Given the description of an element on the screen output the (x, y) to click on. 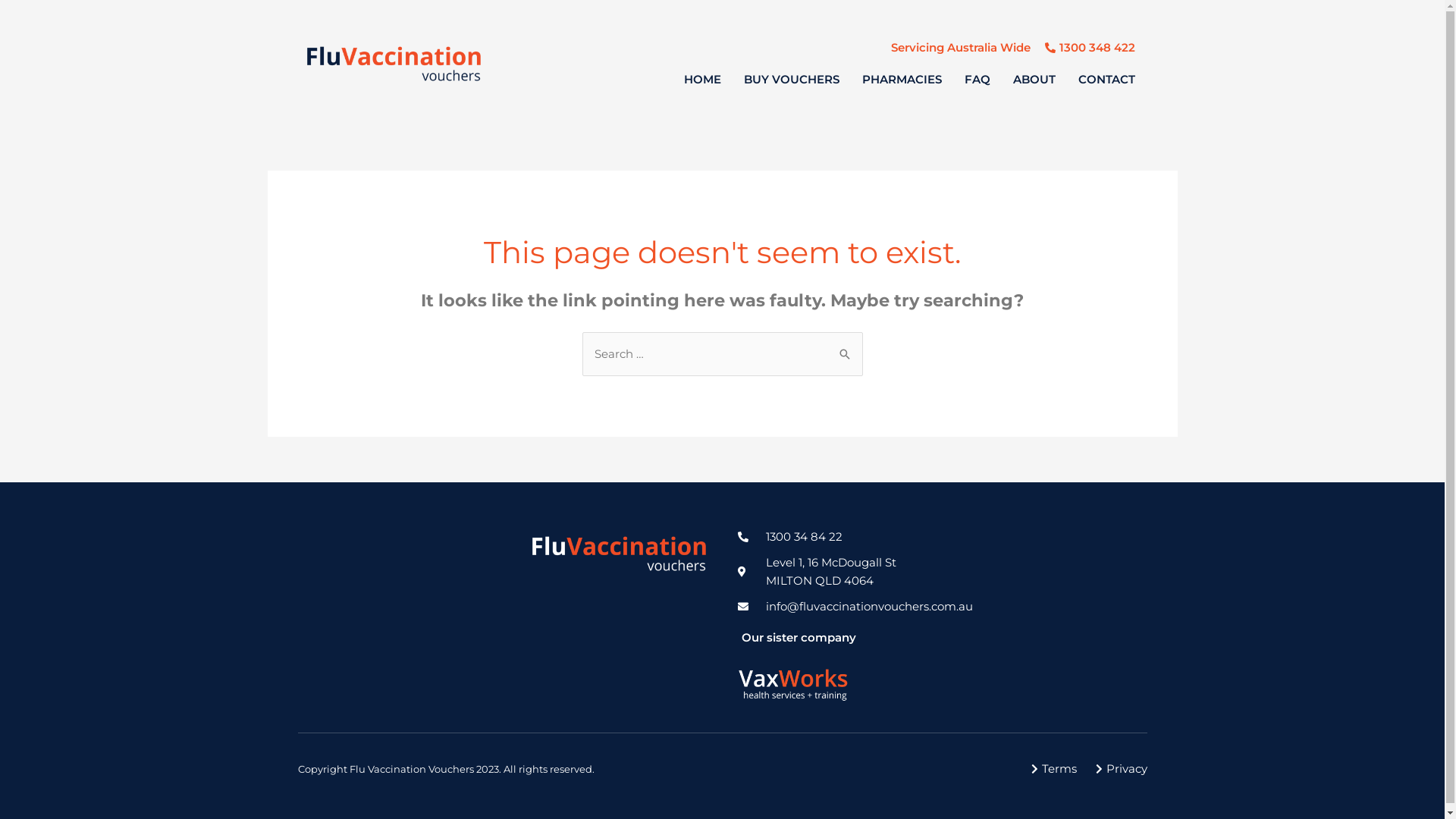
Terms Element type: text (1051, 768)
Search Element type: text (845, 347)
Privacy Element type: text (1117, 768)
CONTACT Element type: text (1106, 79)
BUY VOUCHERS Element type: text (791, 79)
HOME Element type: text (702, 79)
1300 348 422 Element type: text (1088, 47)
Servicing Australia Wide Element type: text (960, 47)
FAQ Element type: text (977, 79)
1300 34 84 22 Element type: text (941, 536)
ABOUT Element type: text (1033, 79)
info@fluvaccinationvouchers.com.au Element type: text (941, 606)
PHARMACIES Element type: text (901, 79)
